Given the description of an element on the screen output the (x, y) to click on. 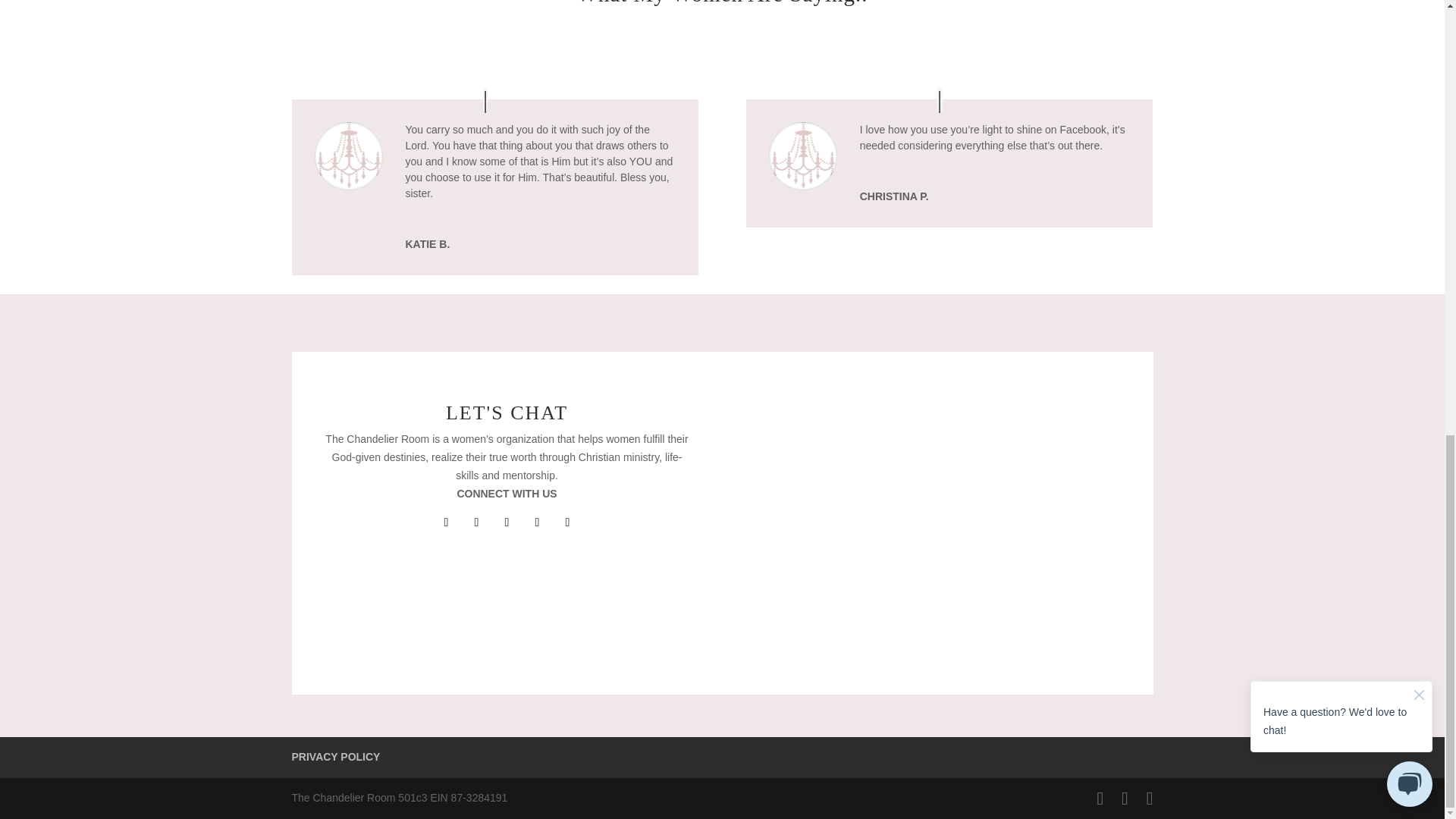
Follow on Pinterest (536, 522)
Follow on LinkedIn (566, 522)
Follow on X (475, 522)
PRIVACY POLICY (335, 756)
Follow on Facebook (445, 522)
Form 1 (937, 523)
Follow on Instagram (506, 522)
